Given the description of an element on the screen output the (x, y) to click on. 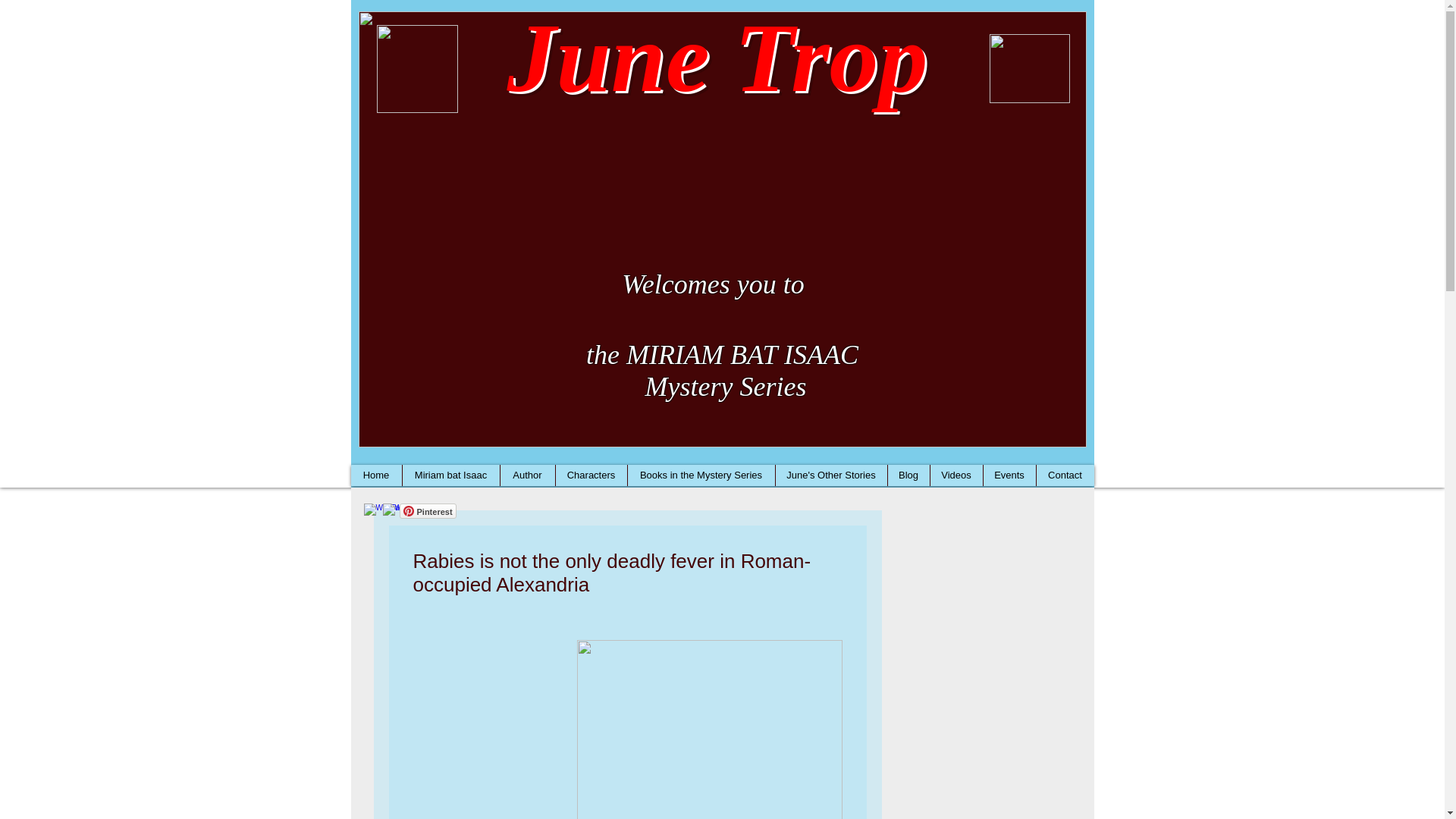
Blog (908, 475)
Home (375, 475)
Videos (956, 475)
Miriam bat Isaac (450, 475)
Books in the Mystery Series (700, 475)
Contact (1064, 475)
Characters (590, 475)
June's Other Stories (830, 475)
Pinterest (426, 510)
Author (526, 475)
